Given the description of an element on the screen output the (x, y) to click on. 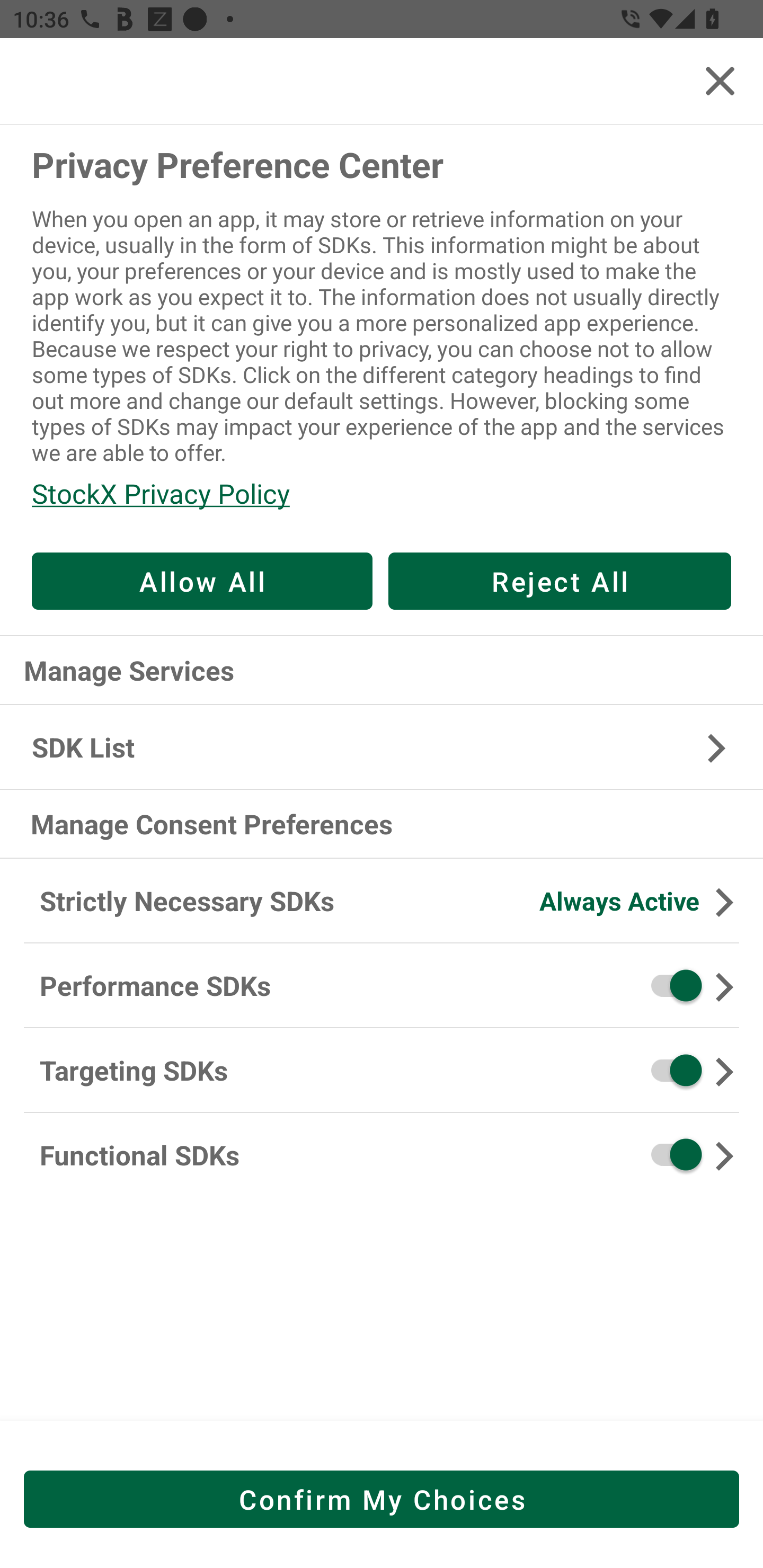
Close (719, 80)
StockX Privacy Policy (381, 493)
Allow All (202, 580)
Reject All (559, 580)
SDK List (381, 746)
Strictly Necessary SDKs Always Active (381, 901)
Performance SDKs Consent (381, 985)
Consent (670, 985)
Targeting SDKs Consent (381, 1070)
Consent (670, 1069)
Functional SDKs Consent (381, 1154)
Consent (670, 1154)
Confirm My Choices (381, 1498)
